Given the description of an element on the screen output the (x, y) to click on. 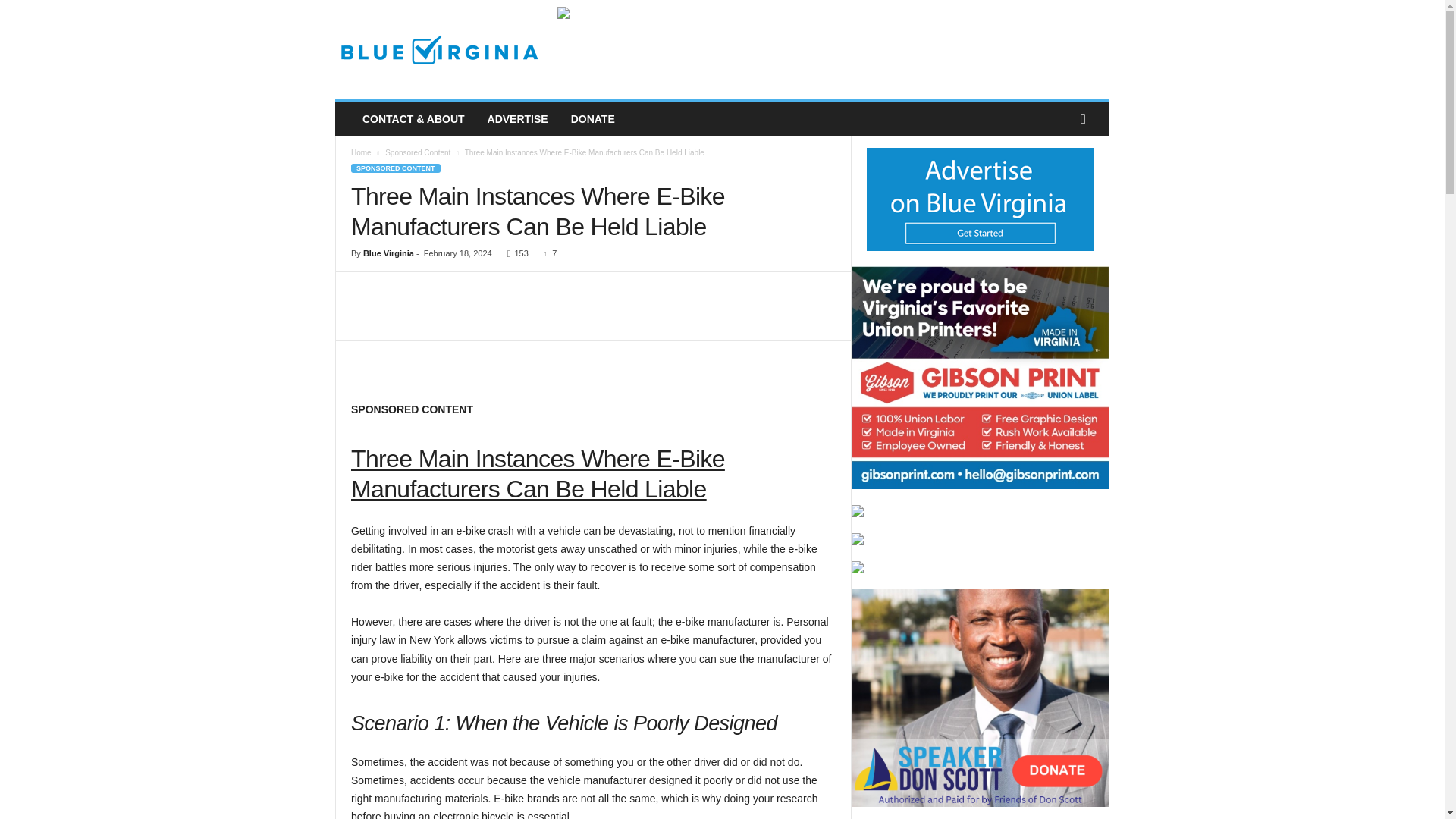
View all posts in Sponsored Content (417, 152)
Sponsored Content (417, 152)
7 (546, 252)
Home (360, 152)
ADVERTISE (517, 118)
DONATE (592, 118)
SPONSORED CONTENT (395, 167)
Blue Virginia (437, 49)
Blue Virginia (387, 252)
